Given the description of an element on the screen output the (x, y) to click on. 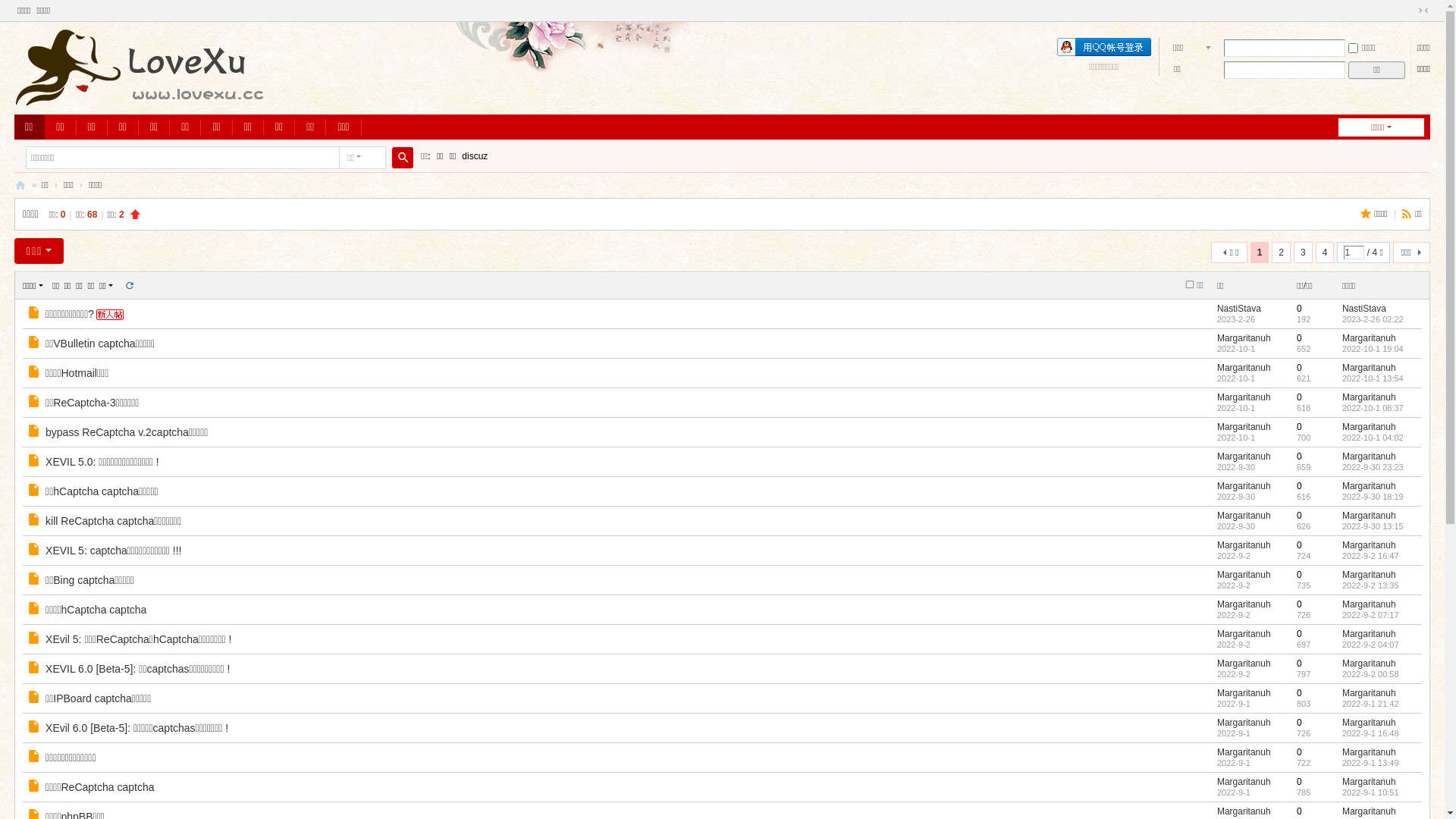
0 Element type: text (1299, 367)
Margaritanuh Element type: text (1243, 367)
0 Element type: text (1299, 544)
2022-9-30 18:19 Element type: text (1372, 496)
2022-9-1 16:48 Element type: text (1370, 732)
2022-9-2 13:35 Element type: text (1370, 584)
Margaritanuh Element type: text (1243, 633)
0 Element type: text (1299, 574)
Margaritanuh Element type: text (1243, 397)
0 Element type: text (1299, 692)
Margaritanuh Element type: text (1243, 811)
Margaritanuh Element type: text (1369, 633)
NastiStava Element type: text (1364, 308)
Margaritanuh Element type: text (1243, 456)
0 Element type: text (1299, 663)
0 Element type: text (1299, 633)
Margaritanuh Element type: text (1369, 456)
Margaritanuh Element type: text (1369, 337)
2022-9-2 04:07 Element type: text (1370, 644)
2022-10-1 04:02 Element type: text (1372, 437)
Margaritanuh Element type: text (1243, 692)
Margaritanuh Element type: text (1369, 604)
0 Element type: text (1299, 604)
LoveXu Element type: text (20, 185)
2022-9-2 16:47 Element type: text (1370, 555)
Margaritanuh Element type: text (1243, 515)
2022-9-30 23:23 Element type: text (1372, 466)
Margaritanuh Element type: text (1243, 337)
2022-9-30 13:15 Element type: text (1372, 525)
Margaritanuh Element type: text (1369, 397)
Margaritanuh Element type: text (1369, 574)
Margaritanuh Element type: text (1369, 485)
0 Element type: text (1299, 397)
Margaritanuh Element type: text (1369, 426)
3 Element type: text (1302, 252)
0 Element type: text (1299, 781)
Margaritanuh Element type: text (1369, 544)
0 Element type: text (1299, 337)
2022-10-1 19:04 Element type: text (1372, 348)
discuz Element type: text (474, 156)
0 Element type: text (1299, 485)
Margaritanuh Element type: text (1243, 722)
0 Element type: text (1299, 722)
Margaritanuh Element type: text (1243, 663)
true Element type: text (402, 157)
2022-9-2 00:58 Element type: text (1370, 673)
0 Element type: text (1299, 811)
Margaritanuh Element type: text (1243, 781)
Margaritanuh Element type: text (1369, 692)
Margaritanuh Element type: text (1243, 751)
LoveXu Element type: hover (253, 98)
0 Element type: text (1299, 426)
Margaritanuh Element type: text (1243, 604)
Margaritanuh Element type: text (1369, 722)
Margaritanuh Element type: text (1243, 544)
Margaritanuh Element type: text (1369, 367)
Margaritanuh Element type: text (1369, 781)
Margaritanuh Element type: text (1369, 515)
0 Element type: text (1299, 751)
4 Element type: text (1324, 252)
2 Element type: text (1280, 252)
NastiStava Element type: text (1239, 308)
Margaritanuh Element type: text (1243, 574)
0 Element type: text (1299, 308)
2023-2-26 02:22 Element type: text (1372, 318)
0 Element type: text (1299, 515)
2022-9-1 21:42 Element type: text (1370, 703)
2022-9-2 07:17 Element type: text (1370, 614)
2022-10-1 08:37 Element type: text (1372, 407)
Margaritanuh Element type: text (1243, 485)
Margaritanuh Element type: text (1369, 663)
2022-9-1 13:49 Element type: text (1370, 762)
Margaritanuh Element type: text (1369, 811)
2022-10-1 13:54 Element type: text (1372, 377)
0 Element type: text (1299, 456)
Margaritanuh Element type: text (1369, 751)
Margaritanuh Element type: text (1243, 426)
2022-9-1 10:51 Element type: text (1370, 792)
